Given the description of an element on the screen output the (x, y) to click on. 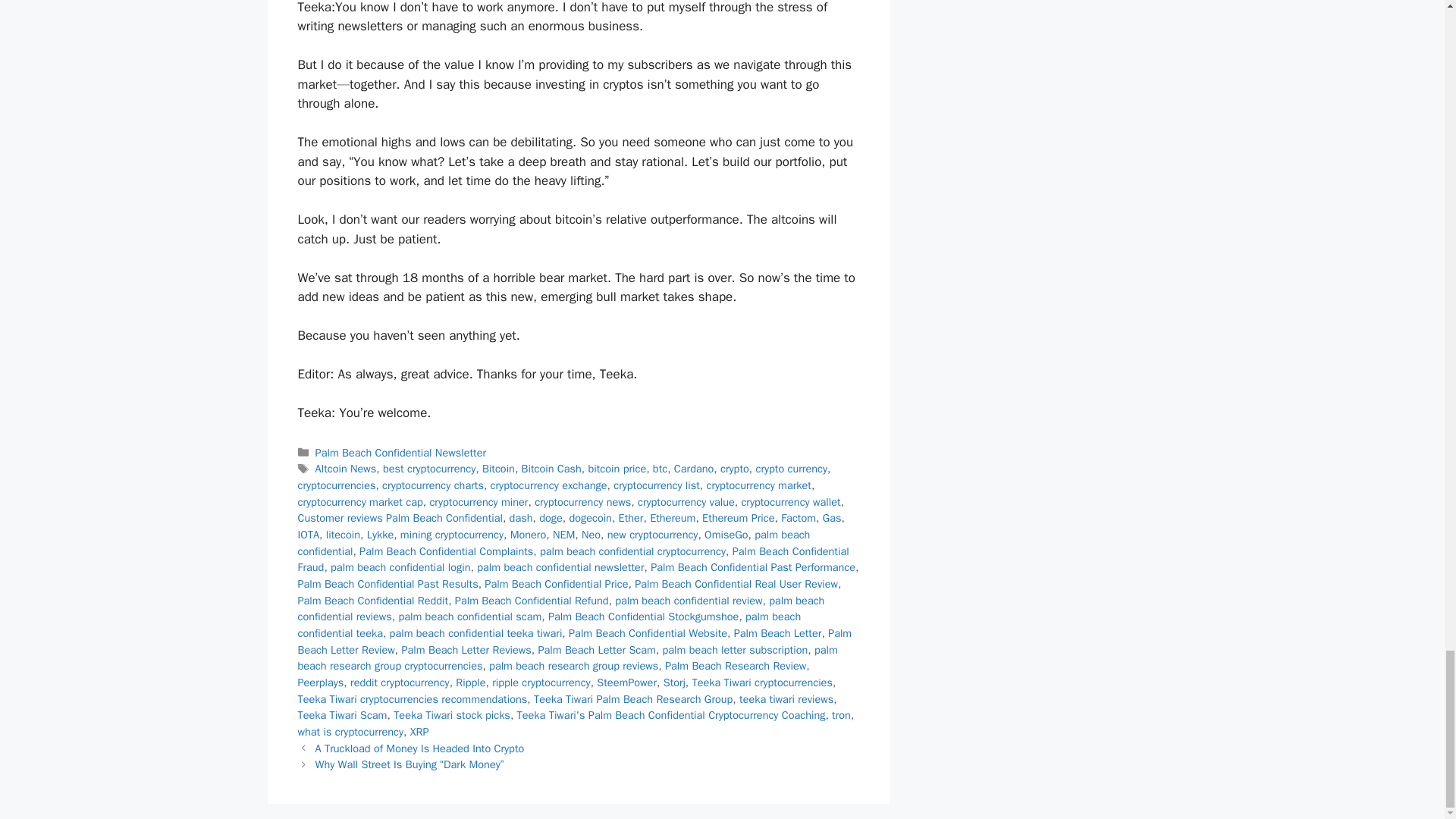
best cryptocurrency (429, 468)
cryptocurrencies (336, 485)
cryptocurrency list (656, 485)
cryptocurrency exchange (548, 485)
btc (659, 468)
Bitcoin (498, 468)
bitcoin price (617, 468)
crypto (734, 468)
Cardano (693, 468)
cryptocurrency charts (432, 485)
crypto currency (791, 468)
Palm Beach Confidential Newsletter (400, 452)
Altcoin News (346, 468)
Bitcoin Cash (550, 468)
